Given the description of an element on the screen output the (x, y) to click on. 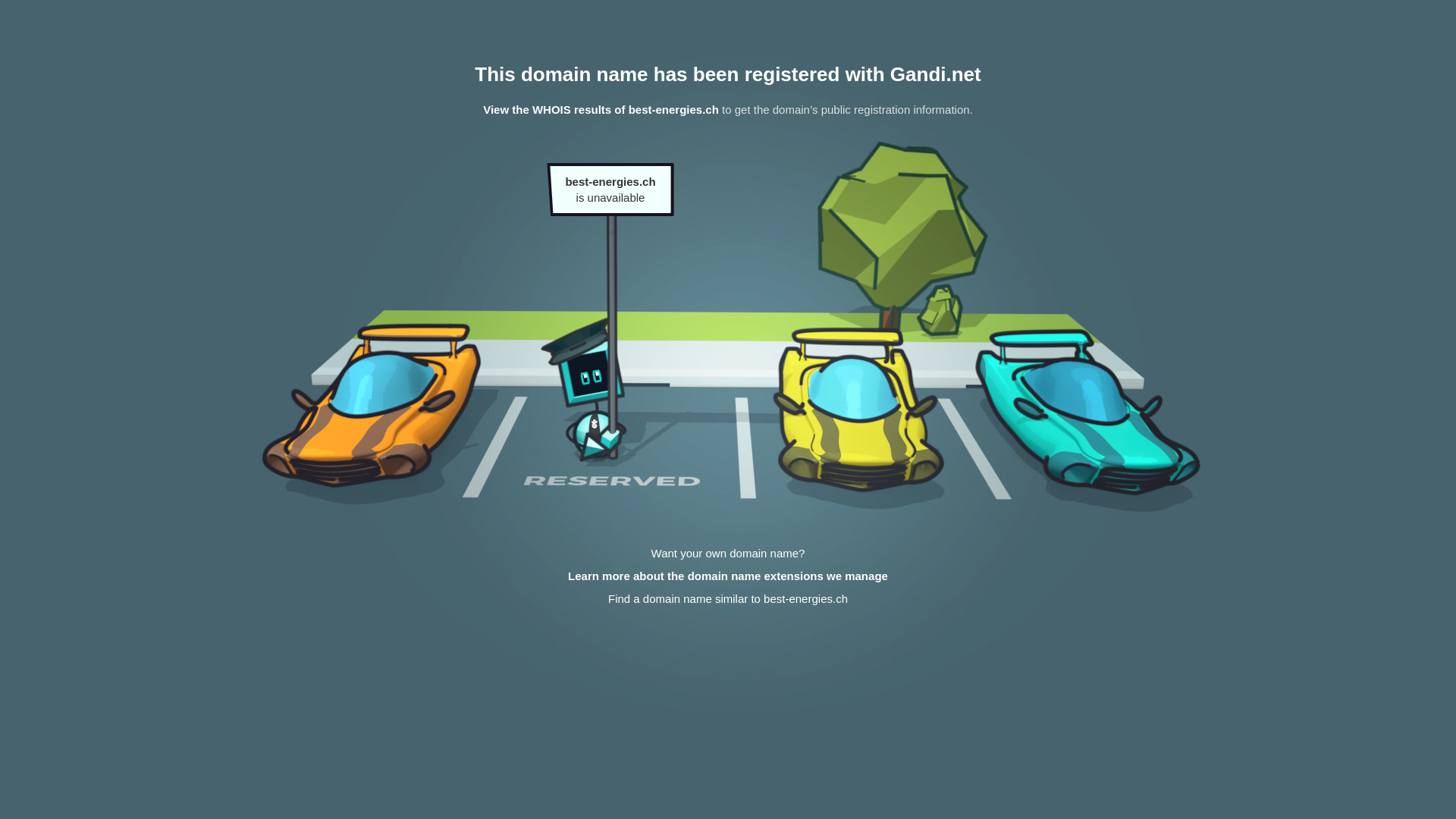
Find a domain name similar to best-energies.ch Element type: text (727, 598)
Learn more about the domain name extensions we manage Element type: text (727, 575)
View the WHOIS results of best-energies.ch Element type: text (600, 109)
